Given the description of an element on the screen output the (x, y) to click on. 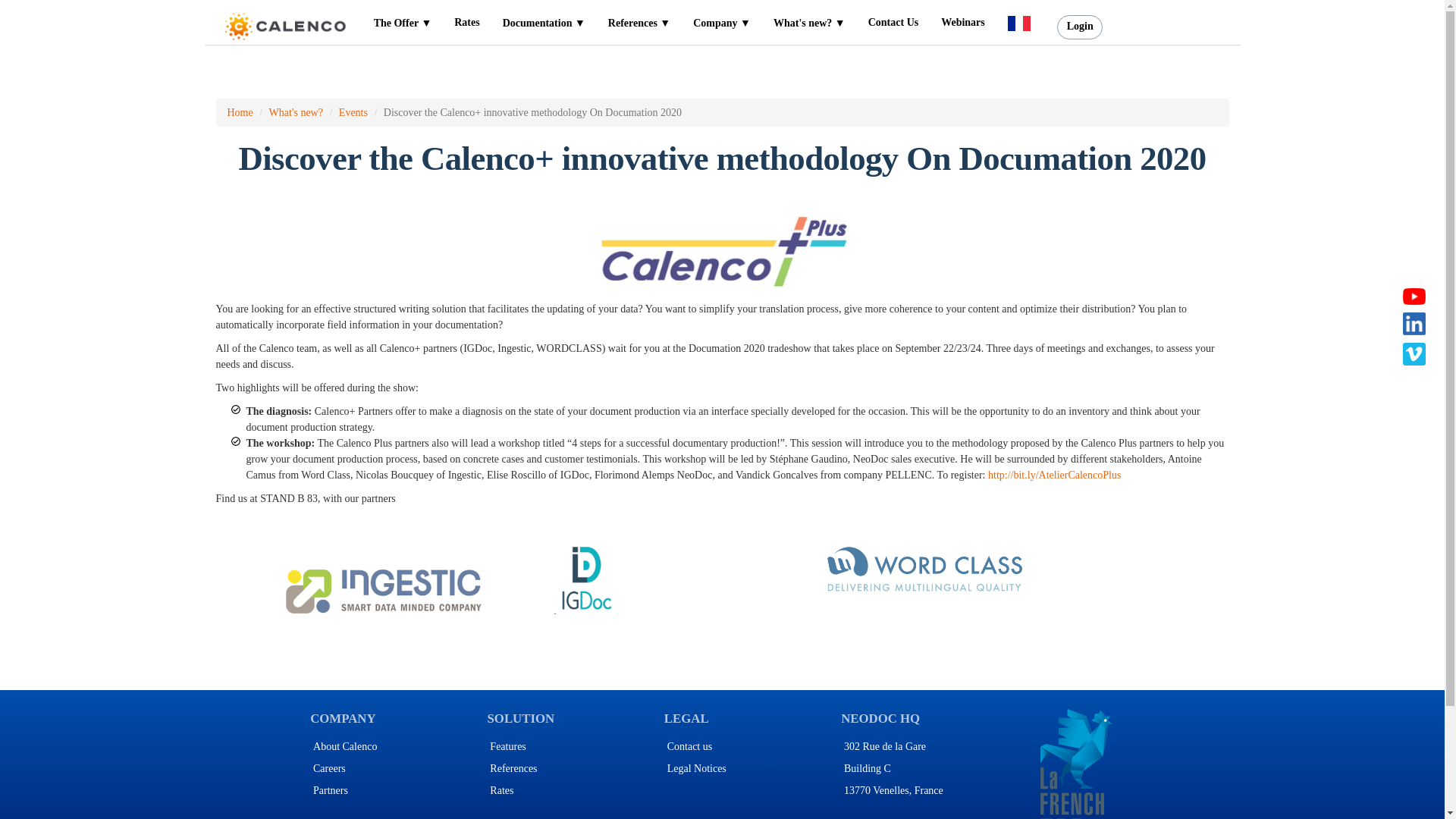
Home (240, 112)
What's new? (296, 112)
Events (353, 112)
Login (1079, 27)
Webinars (962, 22)
Rates (466, 22)
About Calenco (345, 746)
Contact Us (893, 22)
